Given the description of an element on the screen output the (x, y) to click on. 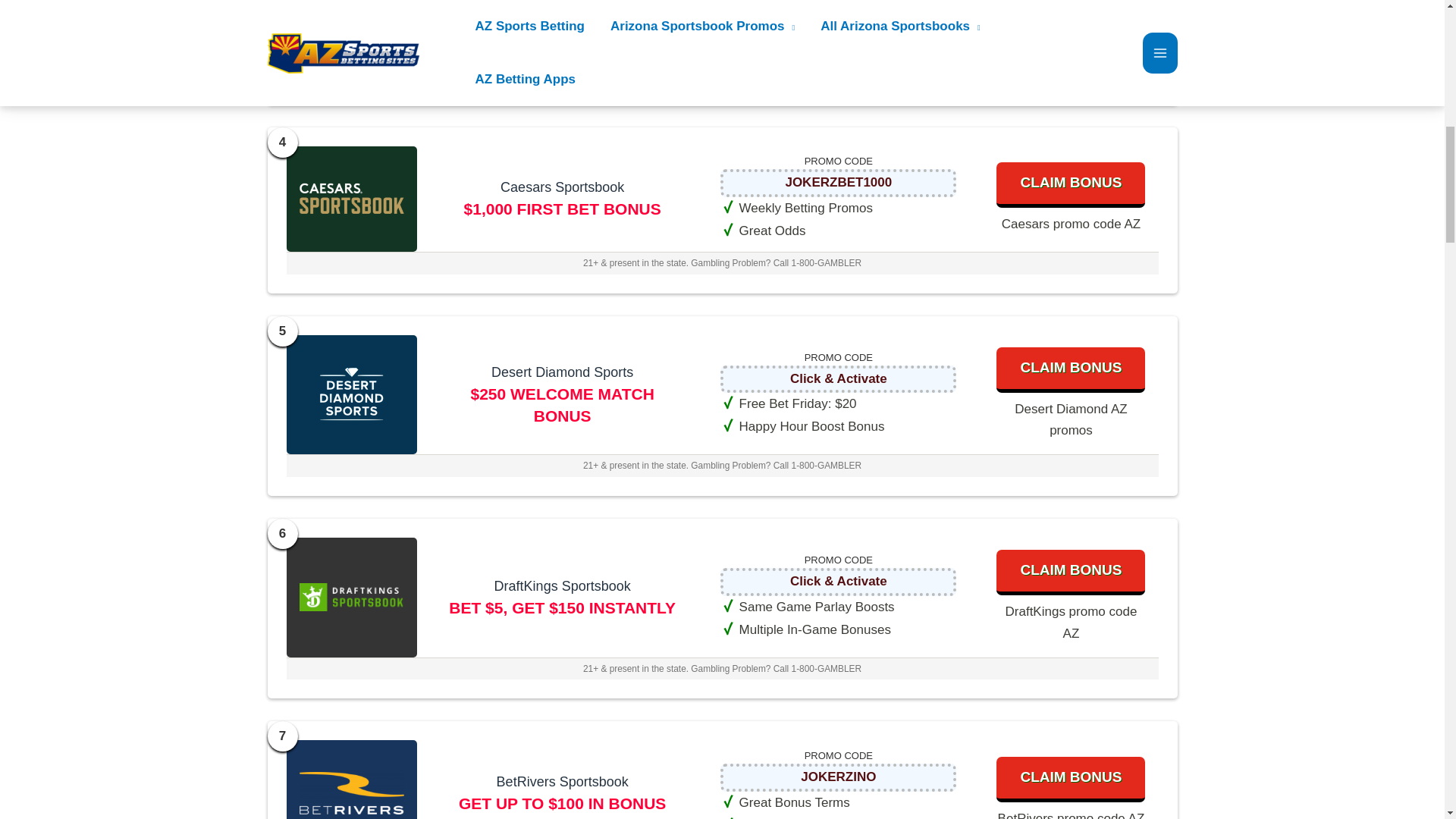
BetMGM (351, 20)
Caesars (838, 182)
Caesars (351, 198)
BetMGM (838, 2)
